Given the description of an element on the screen output the (x, y) to click on. 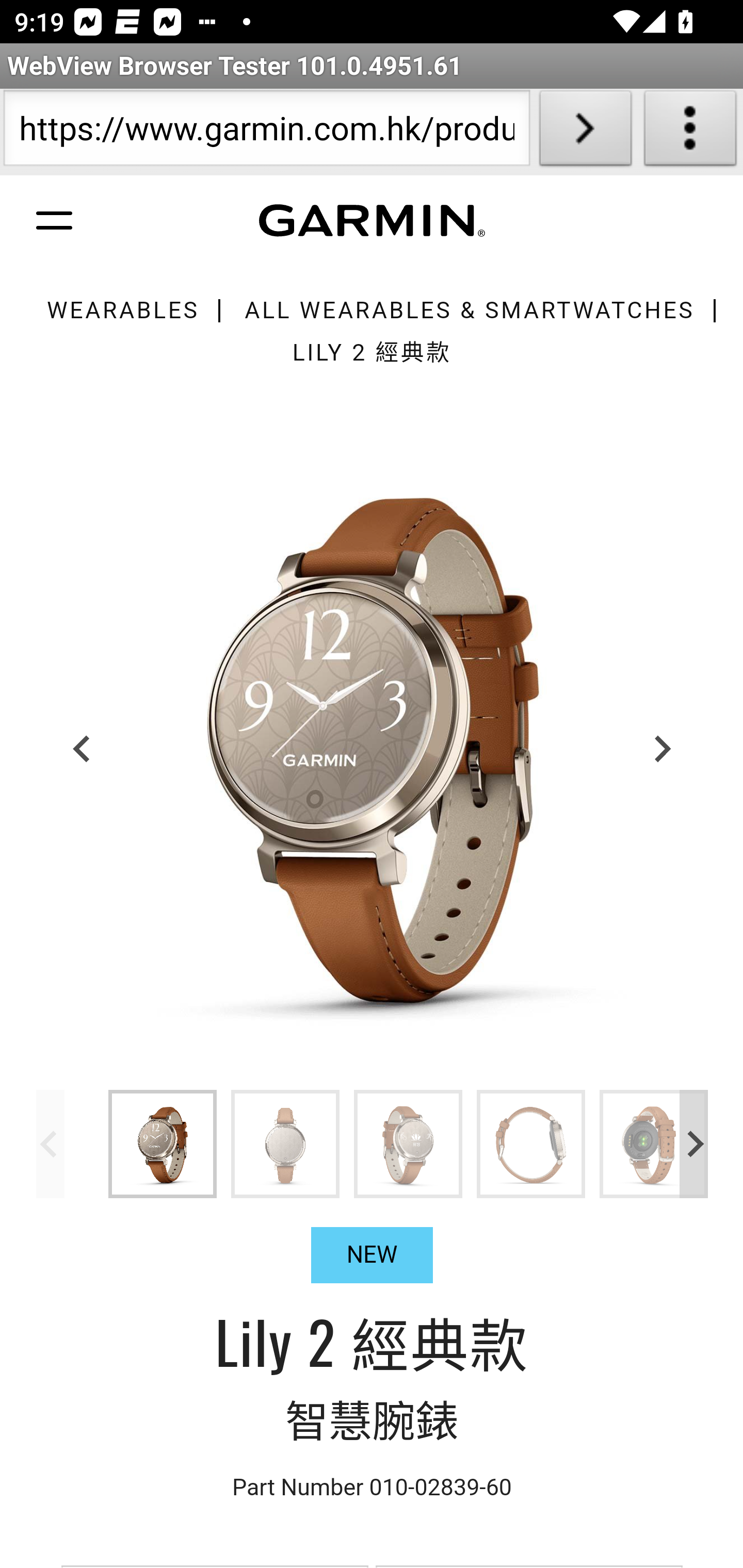
Load URL (585, 132)
About WebView (690, 132)
Navigate to Garmin.com (371, 220)
Wearables WEARABLES (122, 310)
LILY 2 經典款 (371, 351)
1 of 5 (372, 747)
Previous slide (82, 748)
Next slide (661, 748)
Previous slide (50, 1142)
Go to slide 1 (163, 1142)
Go to slide 2 (286, 1142)
Go to slide 3 (408, 1142)
Go to slide 4 (531, 1142)
Go to slide 5 (654, 1142)
Next slide (694, 1142)
